Given the description of an element on the screen output the (x, y) to click on. 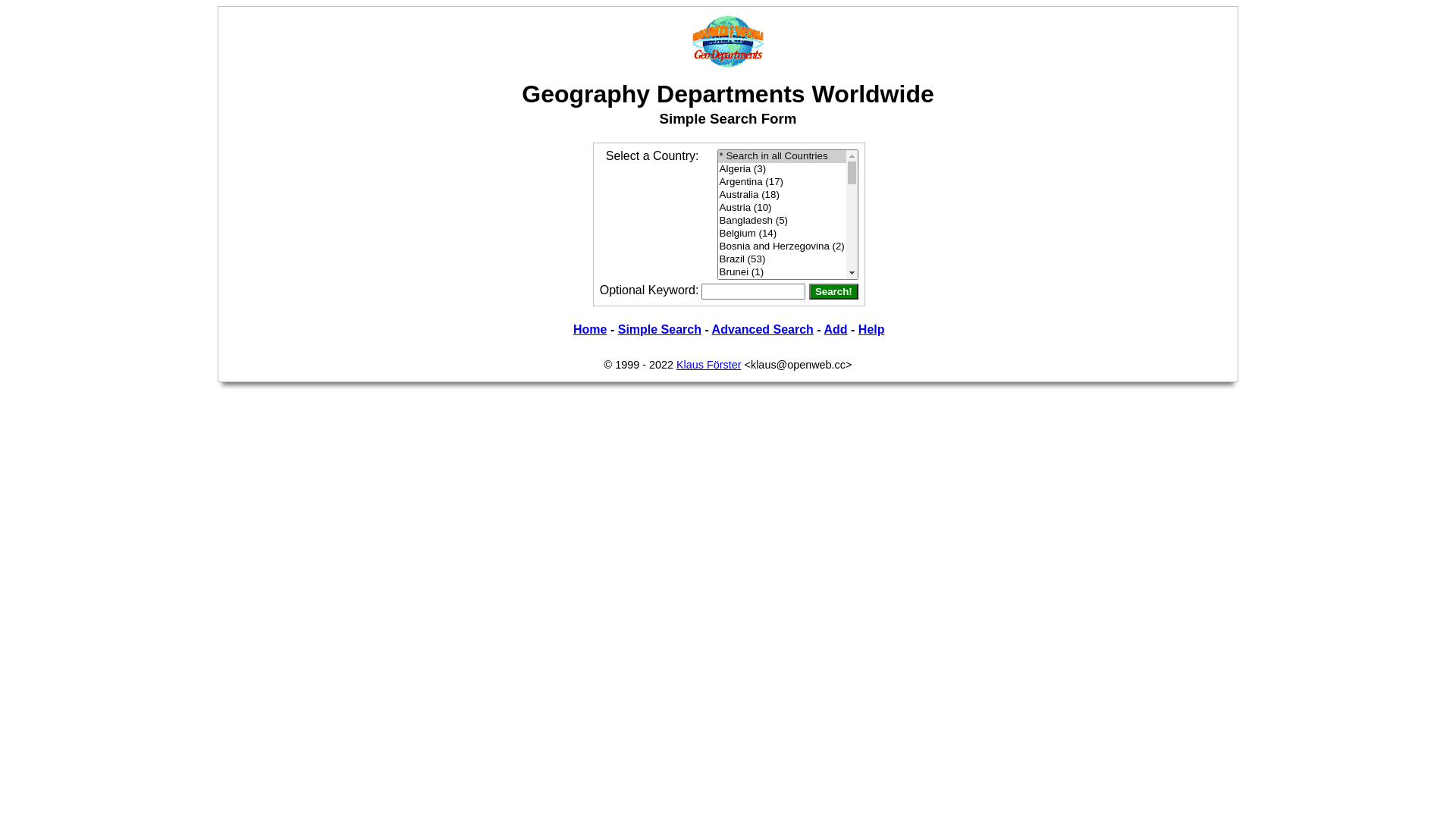
Simple Search Element type: text (659, 329)
Home Element type: text (589, 329)
Advanced Search Element type: text (762, 329)
Add Element type: text (835, 329)
Help Element type: text (871, 329)
Search! Element type: text (833, 291)
